Given the description of an element on the screen output the (x, y) to click on. 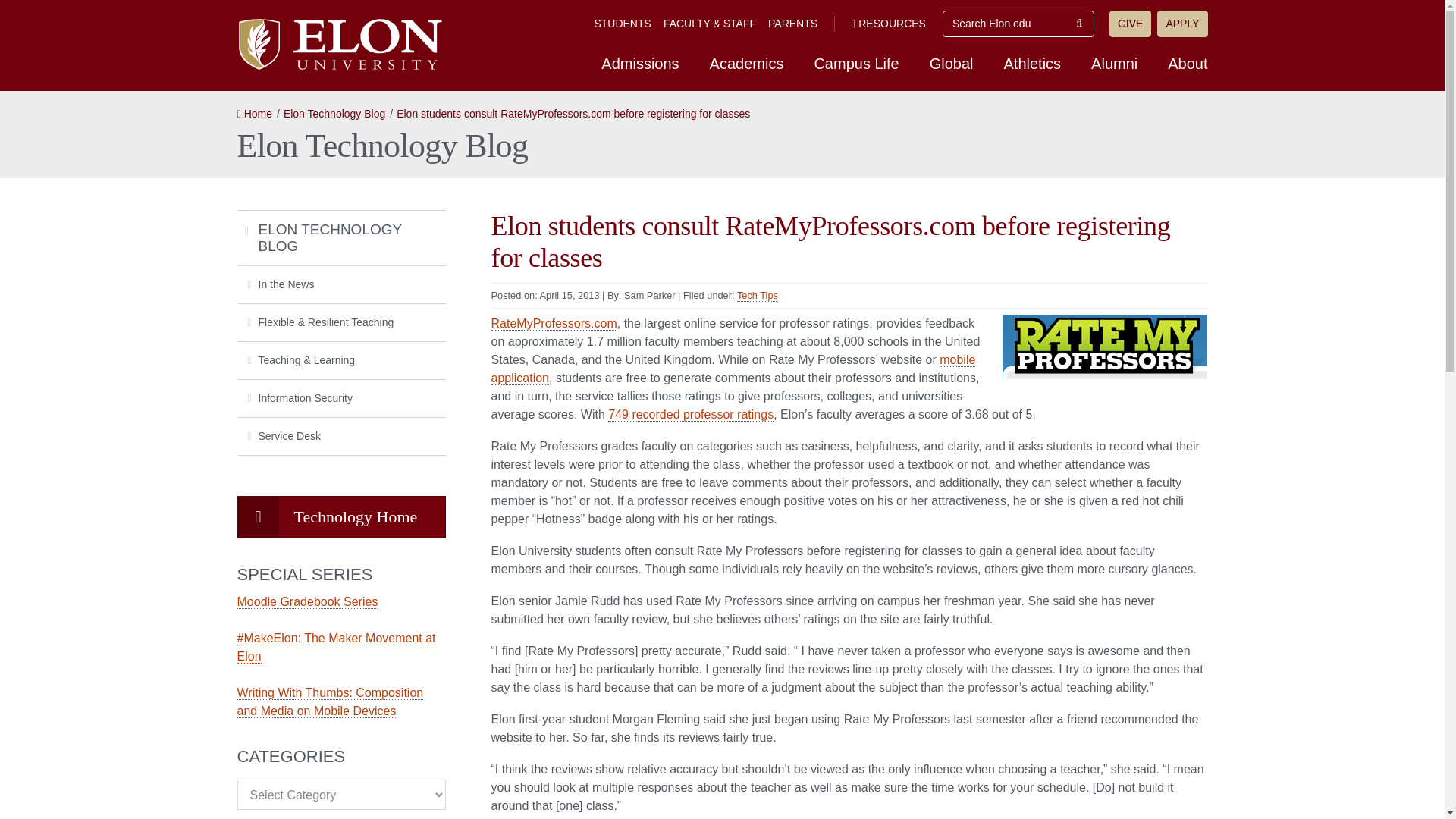
Submit Search (1079, 23)
Academics (746, 63)
Admissions (640, 63)
749 recorded professor ratings (690, 414)
APPLY (1182, 23)
GIVE (1130, 23)
STUDENTS (622, 23)
Home (252, 113)
mobile application (733, 368)
PARENTS (792, 23)
RateMyProfessors.com (554, 323)
About (1188, 63)
Athletics (1032, 63)
Elon University home (338, 44)
Alumni (1114, 63)
